Given the description of an element on the screen output the (x, y) to click on. 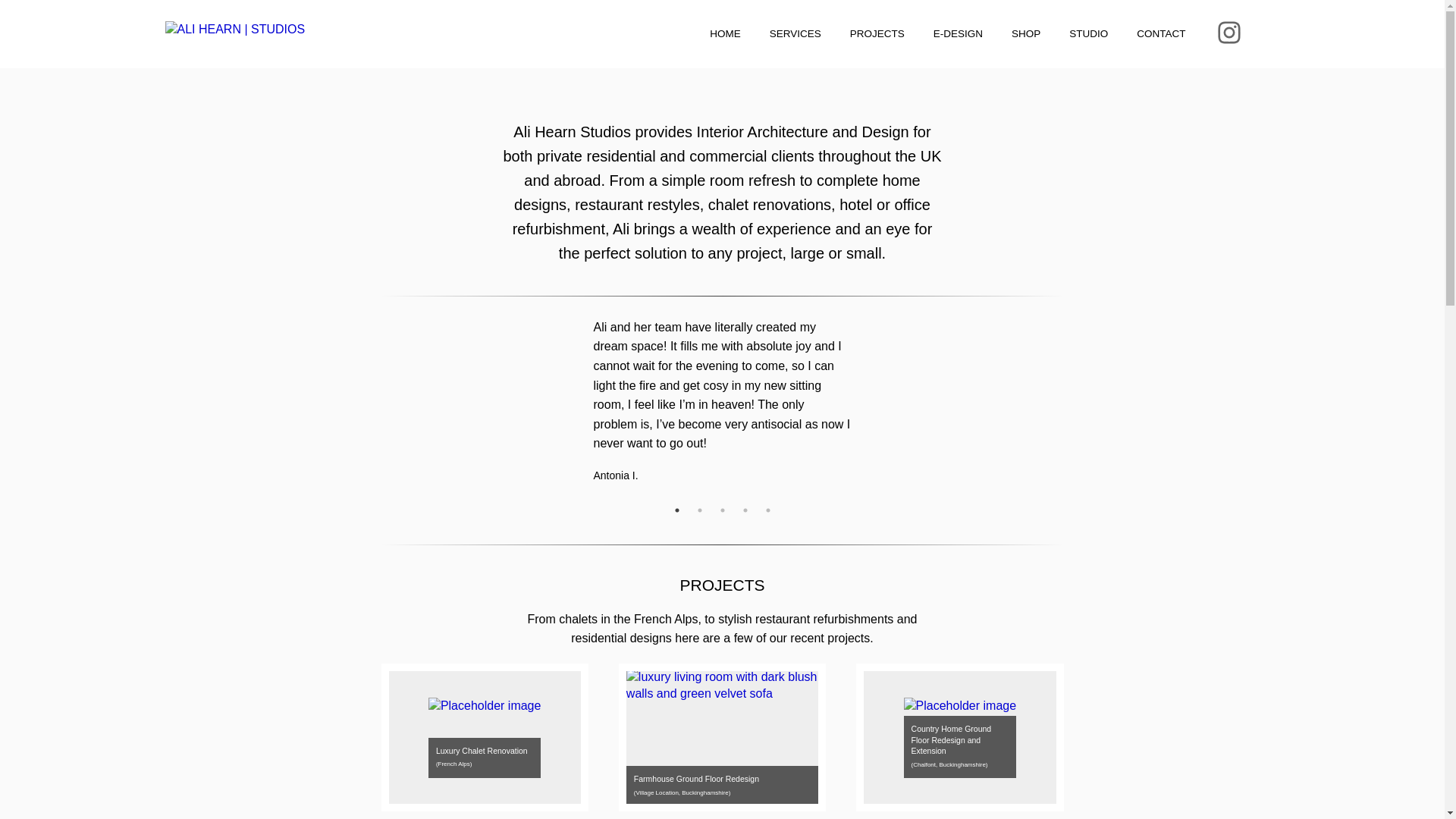
Instagram (1228, 32)
3 (721, 509)
SERVICES (795, 34)
STUDIO (1088, 34)
CONTACT (1160, 34)
PROJECTS (876, 34)
E-DESIGN (958, 34)
HOME (725, 34)
2 (698, 509)
1 (676, 509)
